Given the description of an element on the screen output the (x, y) to click on. 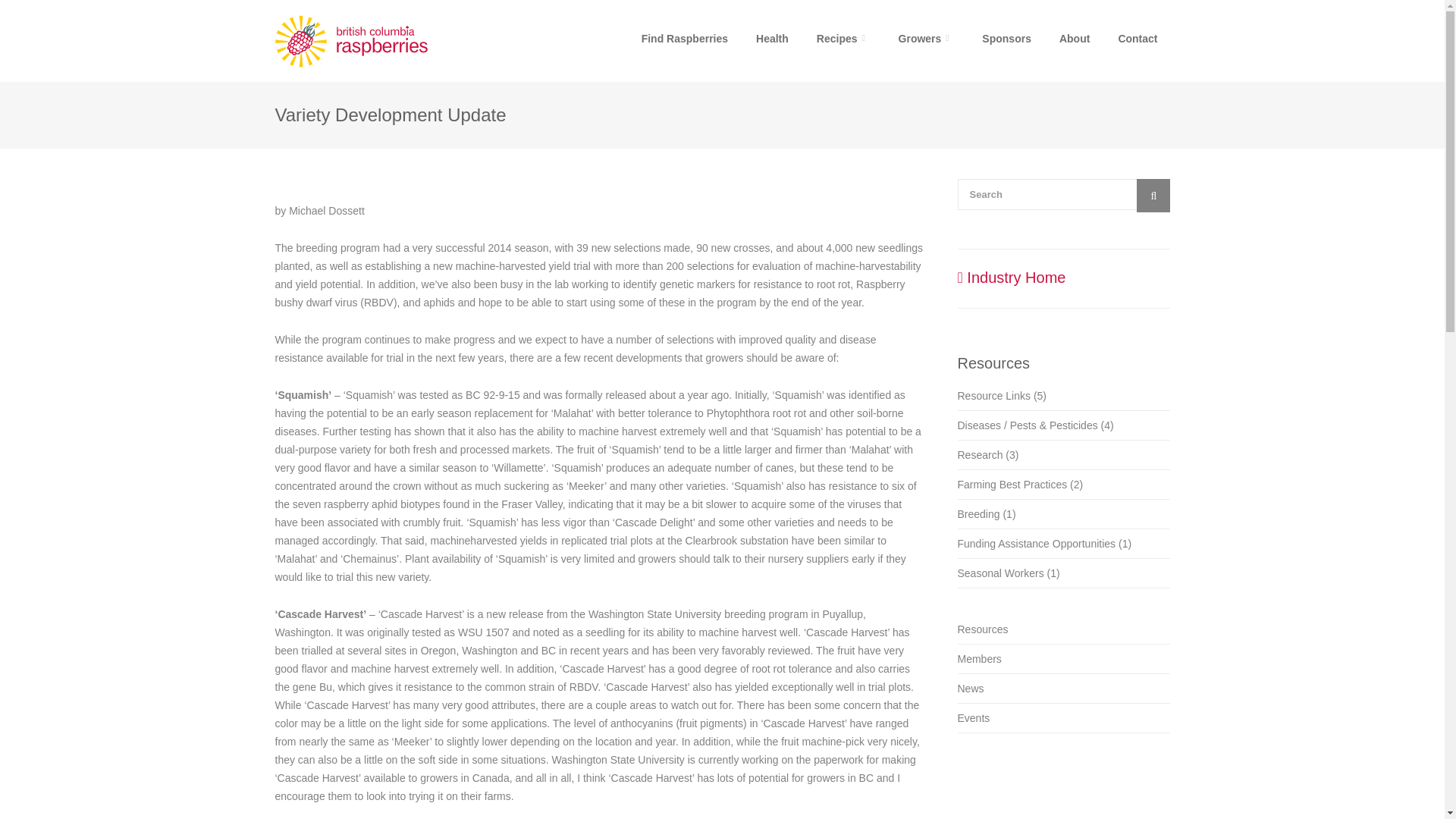
Members (978, 658)
BC Raspberries (380, 41)
News (970, 688)
Resources (981, 629)
Find Raspberries (683, 40)
Industry Home (1010, 277)
Events (973, 717)
Recipes (843, 40)
Growers (926, 40)
Sponsors (1006, 40)
